Given the description of an element on the screen output the (x, y) to click on. 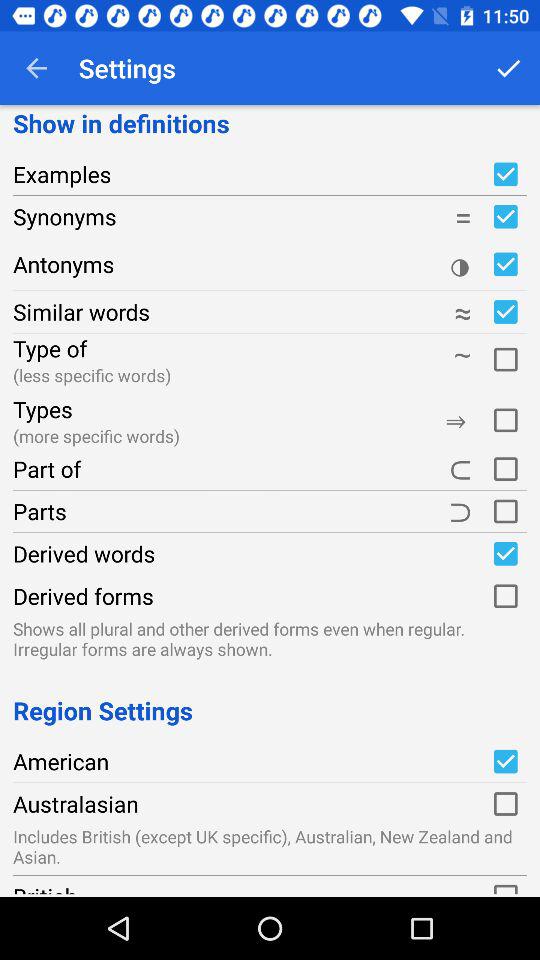
enable checkbox label for derived words (505, 553)
